Given the description of an element on the screen output the (x, y) to click on. 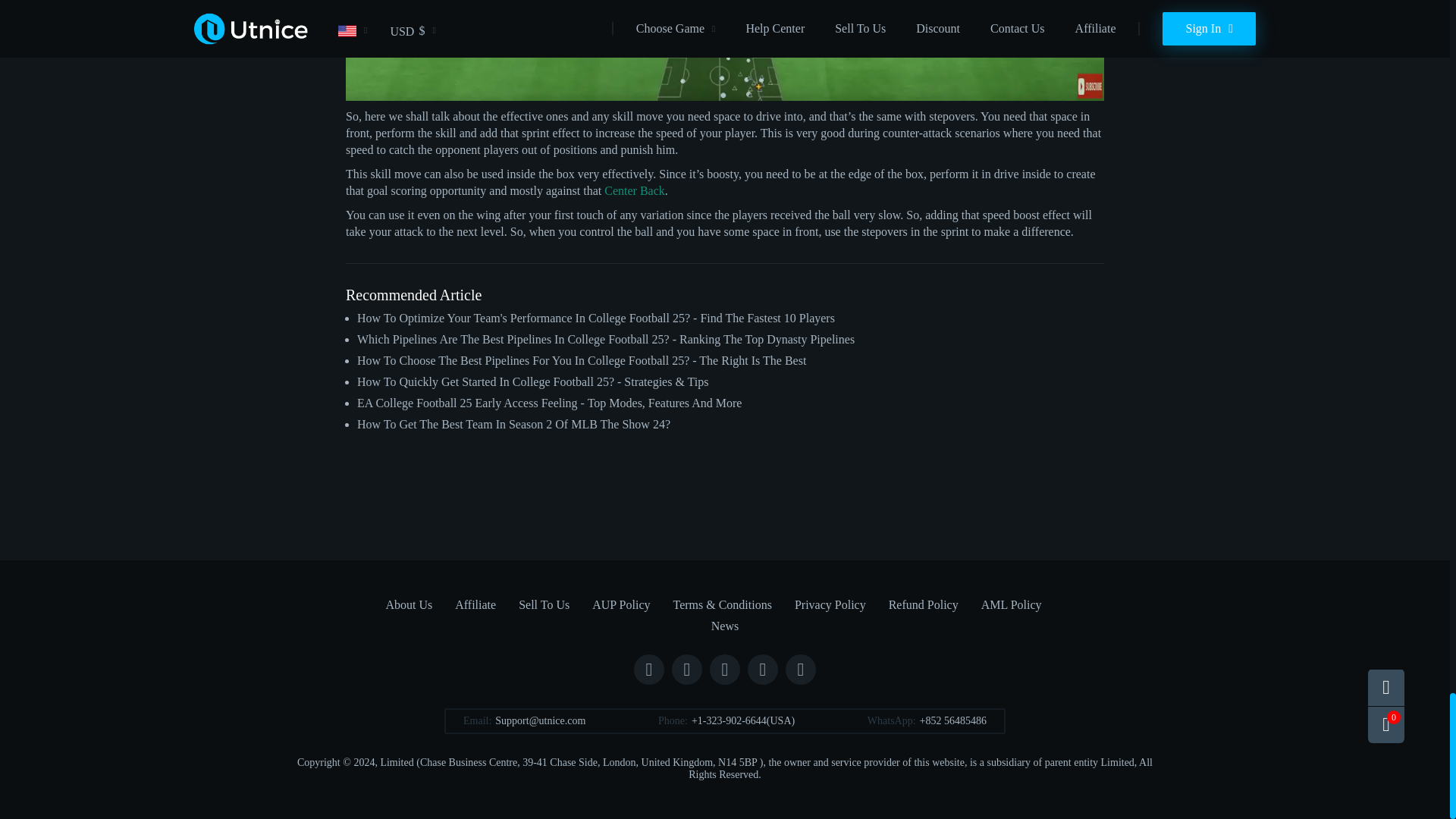
FIFA 23 Stepovers 90 Degrees Angle (724, 50)
Twitter (686, 669)
Facebook (648, 669)
